Given the description of an element on the screen output the (x, y) to click on. 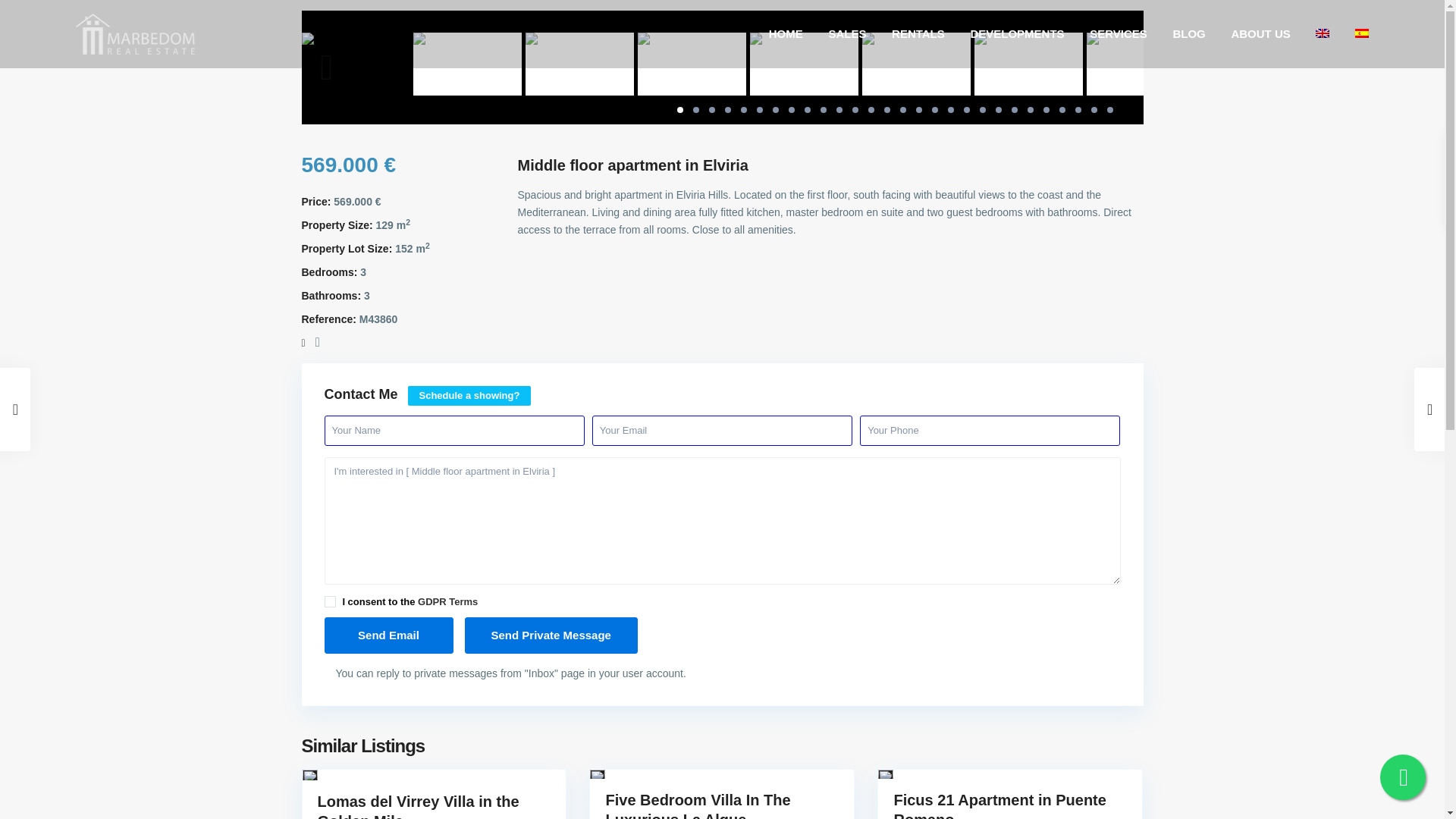
on (330, 601)
Send Private Message (550, 635)
Send Email (388, 635)
RENTALS (918, 33)
Rentals in Marbella (918, 33)
New developments  (1016, 33)
